Given the description of an element on the screen output the (x, y) to click on. 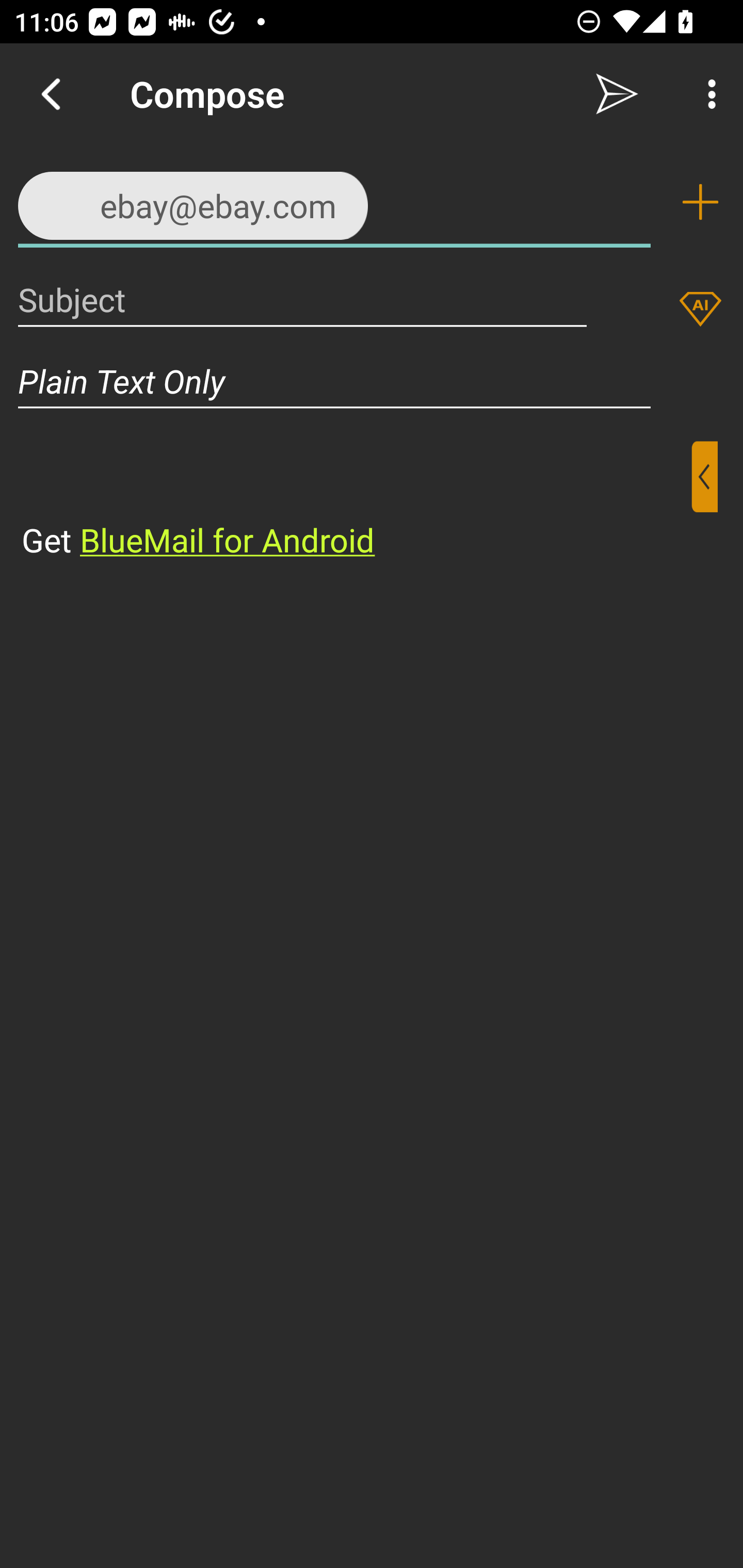
Navigate up (50, 93)
Send (616, 93)
More Options (706, 93)
<ebay@ebay.com>,  (334, 201)
Add recipient (To) (699, 201)
Subject (302, 299)
Plain Text Only (371, 380)


⁣Get BlueMail for Android ​ (355, 501)
